Given the description of an element on the screen output the (x, y) to click on. 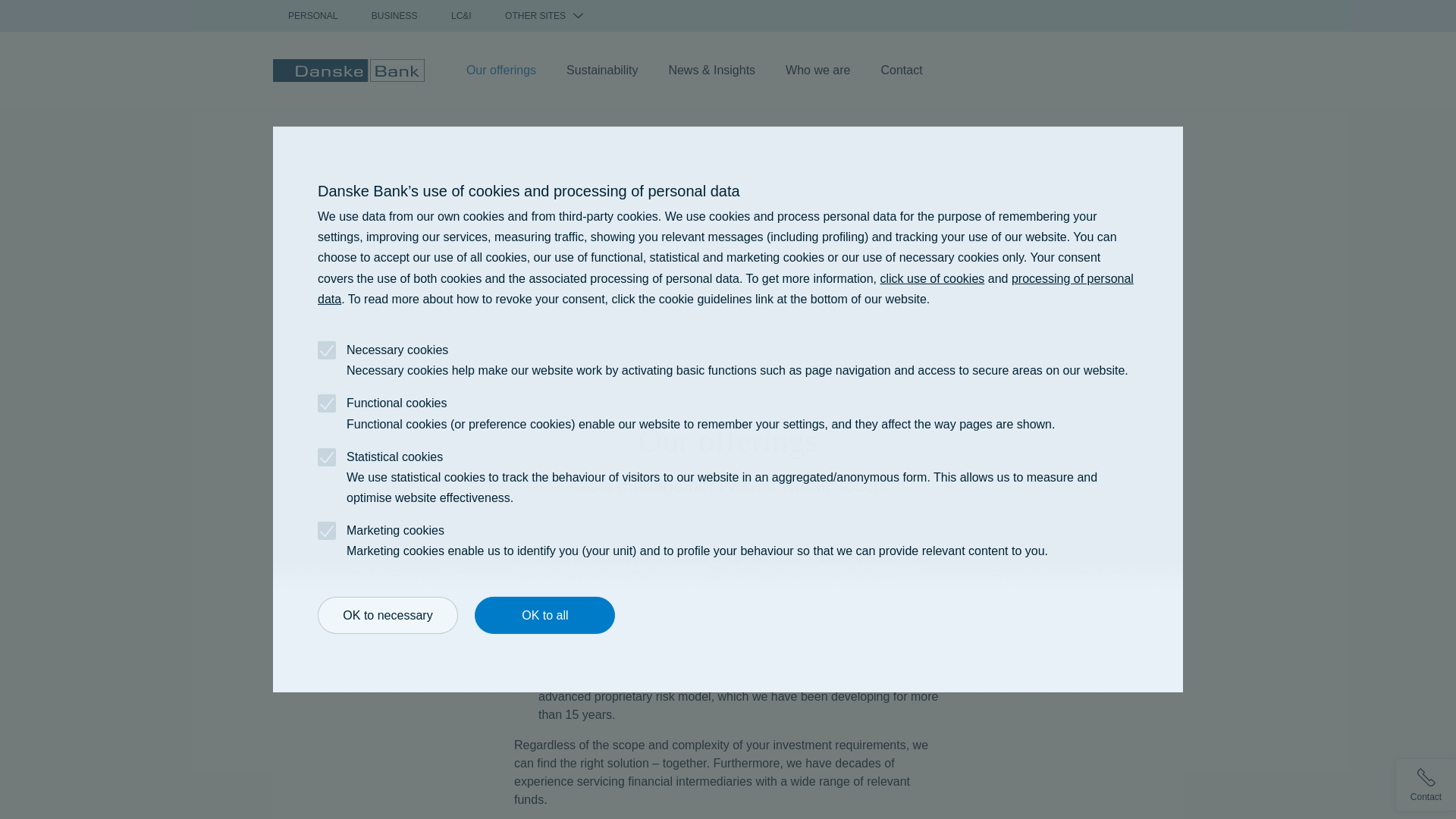
Other sites (544, 15)
Sustainability (601, 66)
OTHER SITES (544, 15)
PERSONAL (312, 15)
Who we are (817, 66)
Our offerings (501, 66)
Contact (900, 66)
BUSINESS (394, 15)
